Given the description of an element on the screen output the (x, y) to click on. 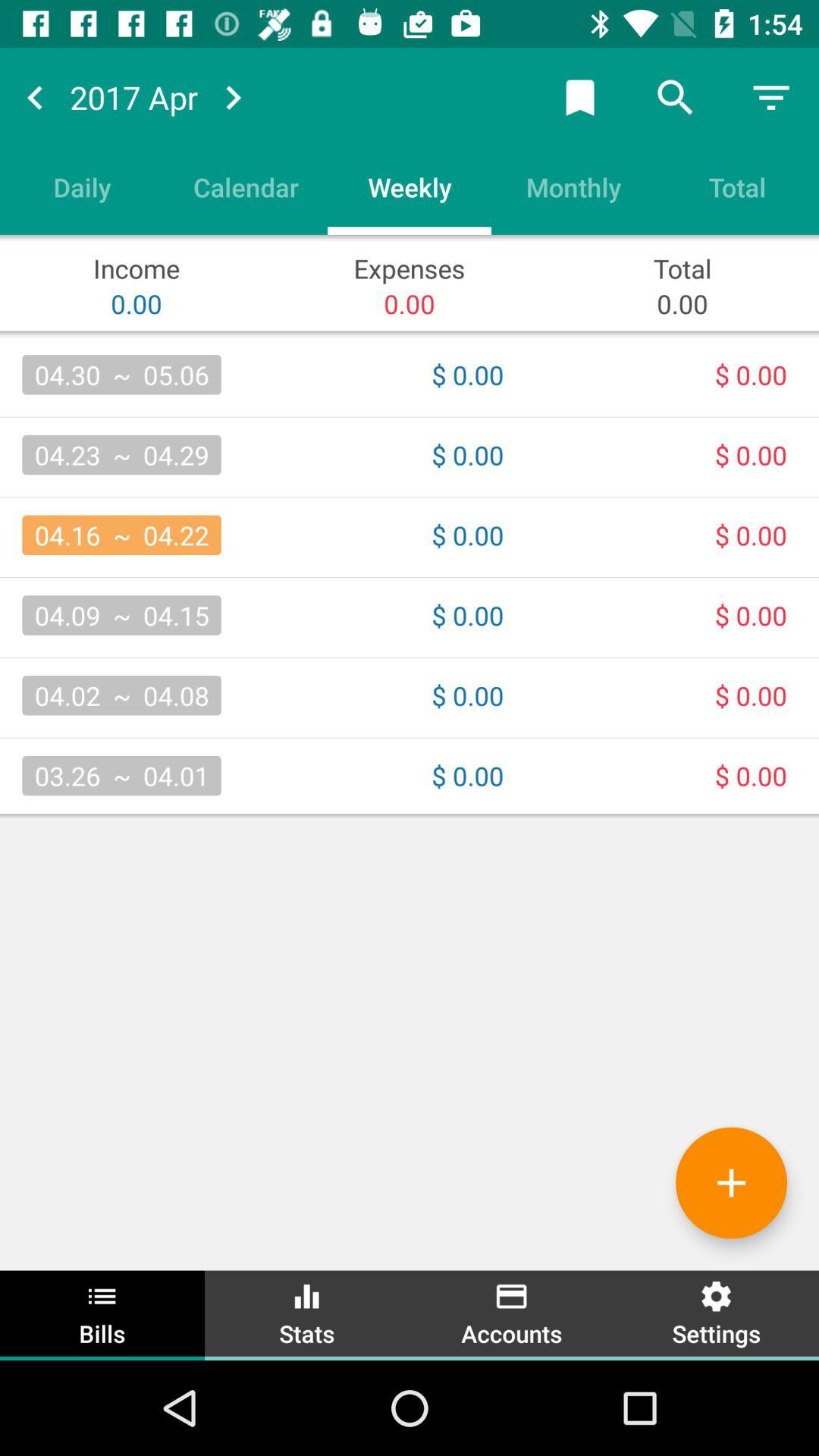
open menu (771, 97)
